Given the description of an element on the screen output the (x, y) to click on. 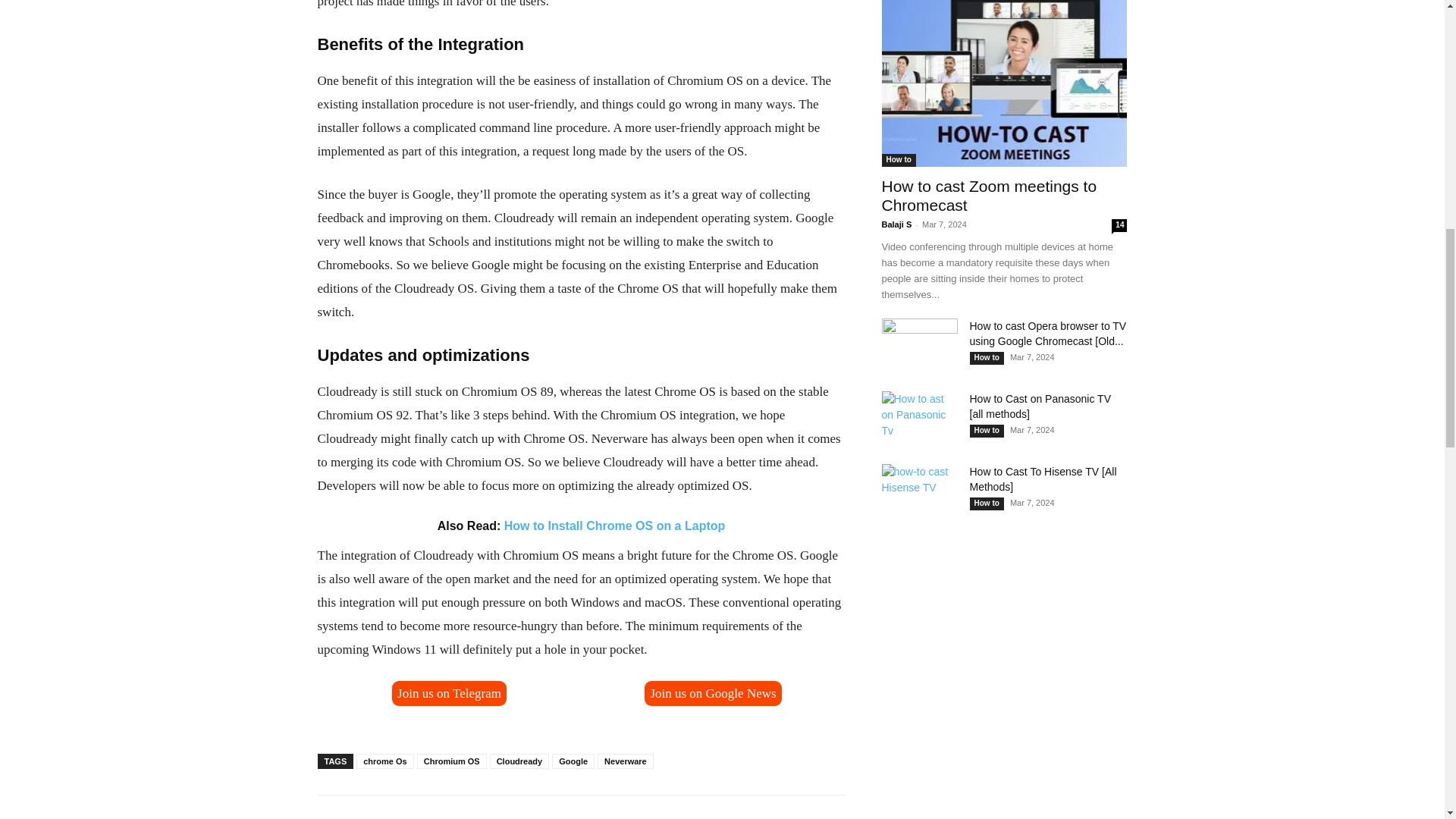
How to Install Chrome OS on a Laptop (614, 524)
